Given the description of an element on the screen output the (x, y) to click on. 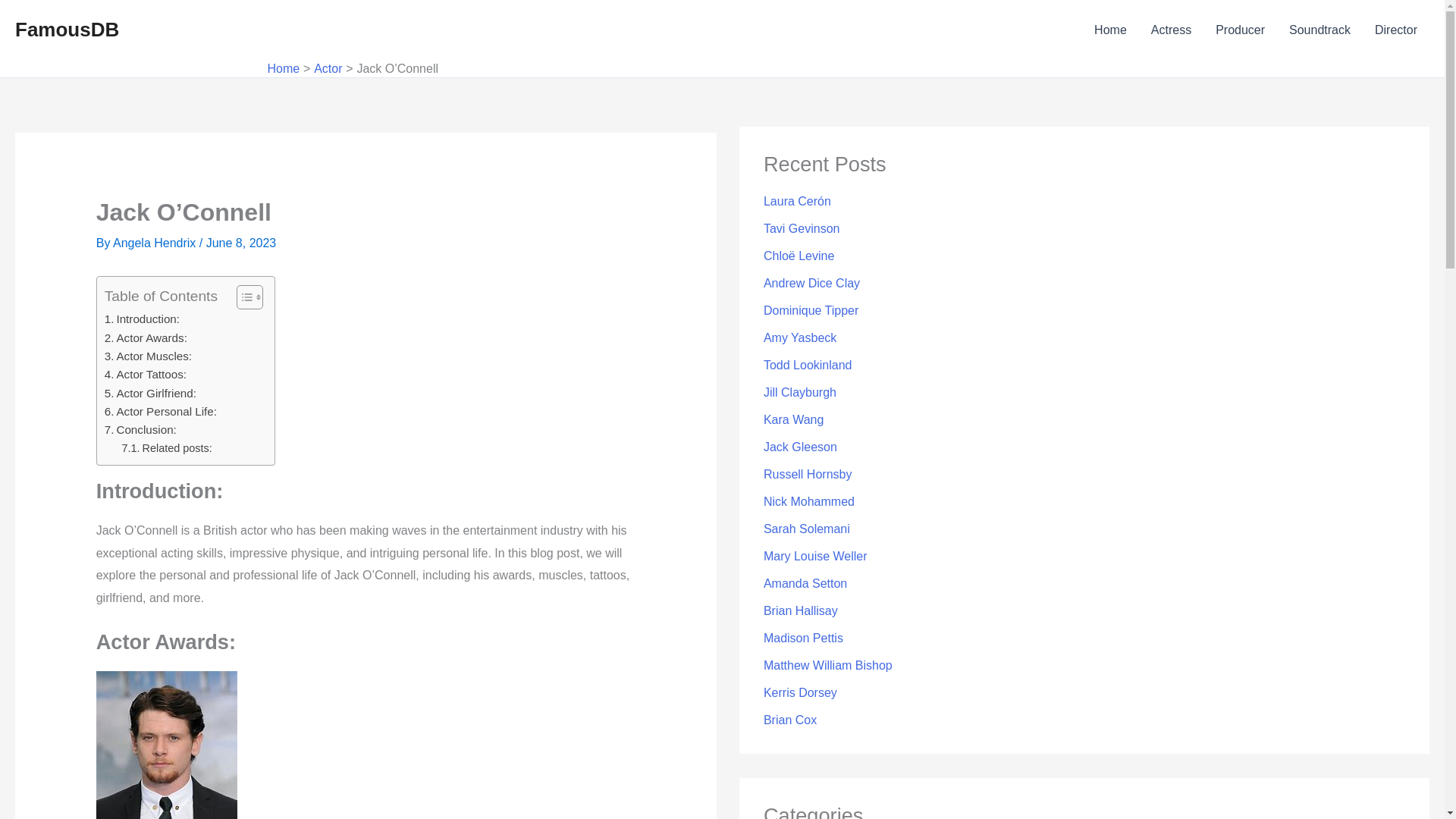
FamousDB (66, 29)
Dominique Tipper (810, 309)
Actor Tattoos: (145, 374)
View all posts by Angela Hendrix (156, 242)
Soundtrack (1319, 30)
Actor Personal Life: (160, 411)
Actor Muscles: (148, 356)
Andrew Dice Clay (811, 282)
Conclusion: (140, 429)
Russell Hornsby (806, 473)
Nick Mohammed (808, 501)
Actress (1171, 30)
Jack Gleeson (799, 446)
Introduction: (141, 319)
Actor Awards: (145, 338)
